Given the description of an element on the screen output the (x, y) to click on. 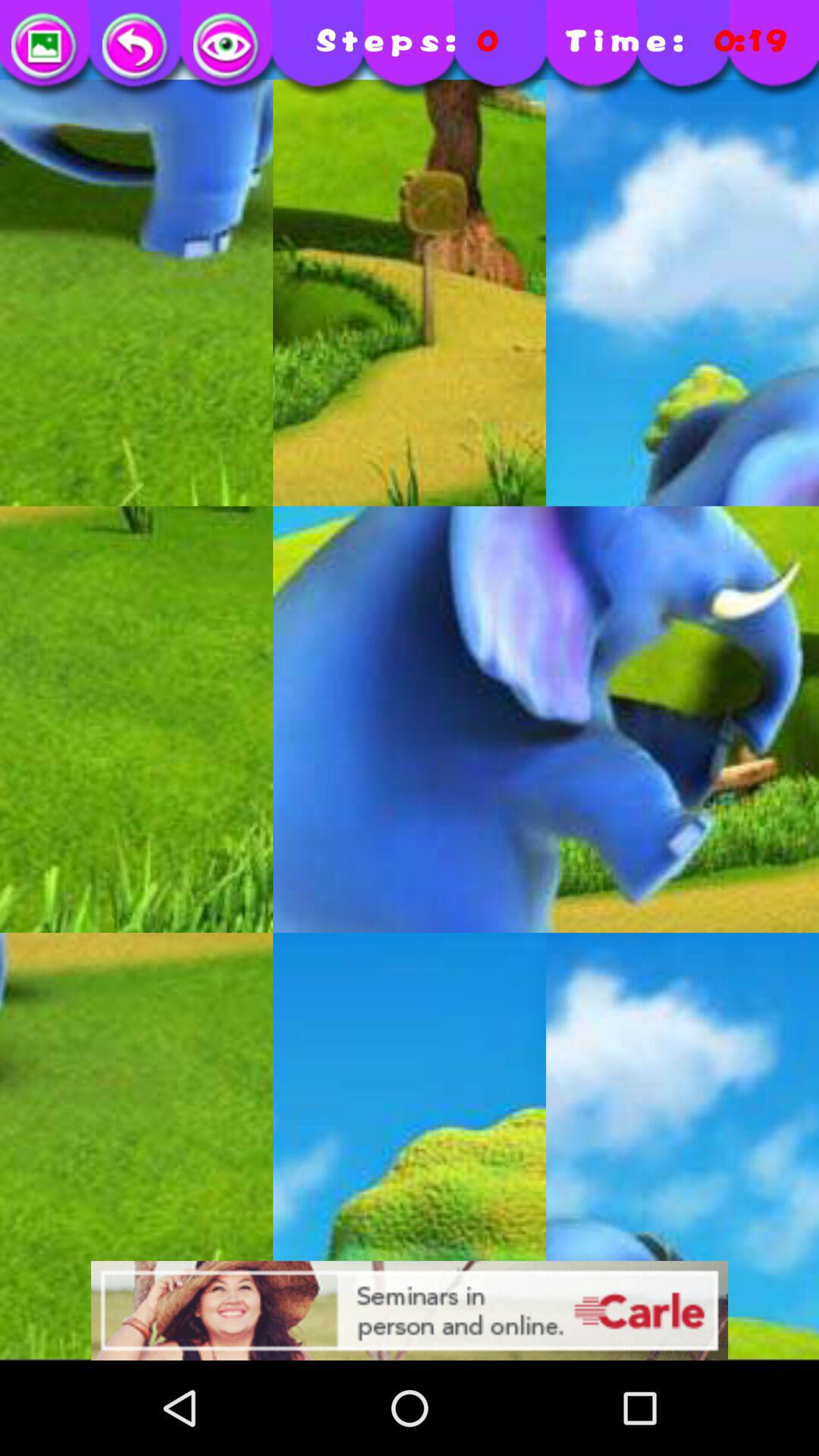
select images (45, 47)
